Given the description of an element on the screen output the (x, y) to click on. 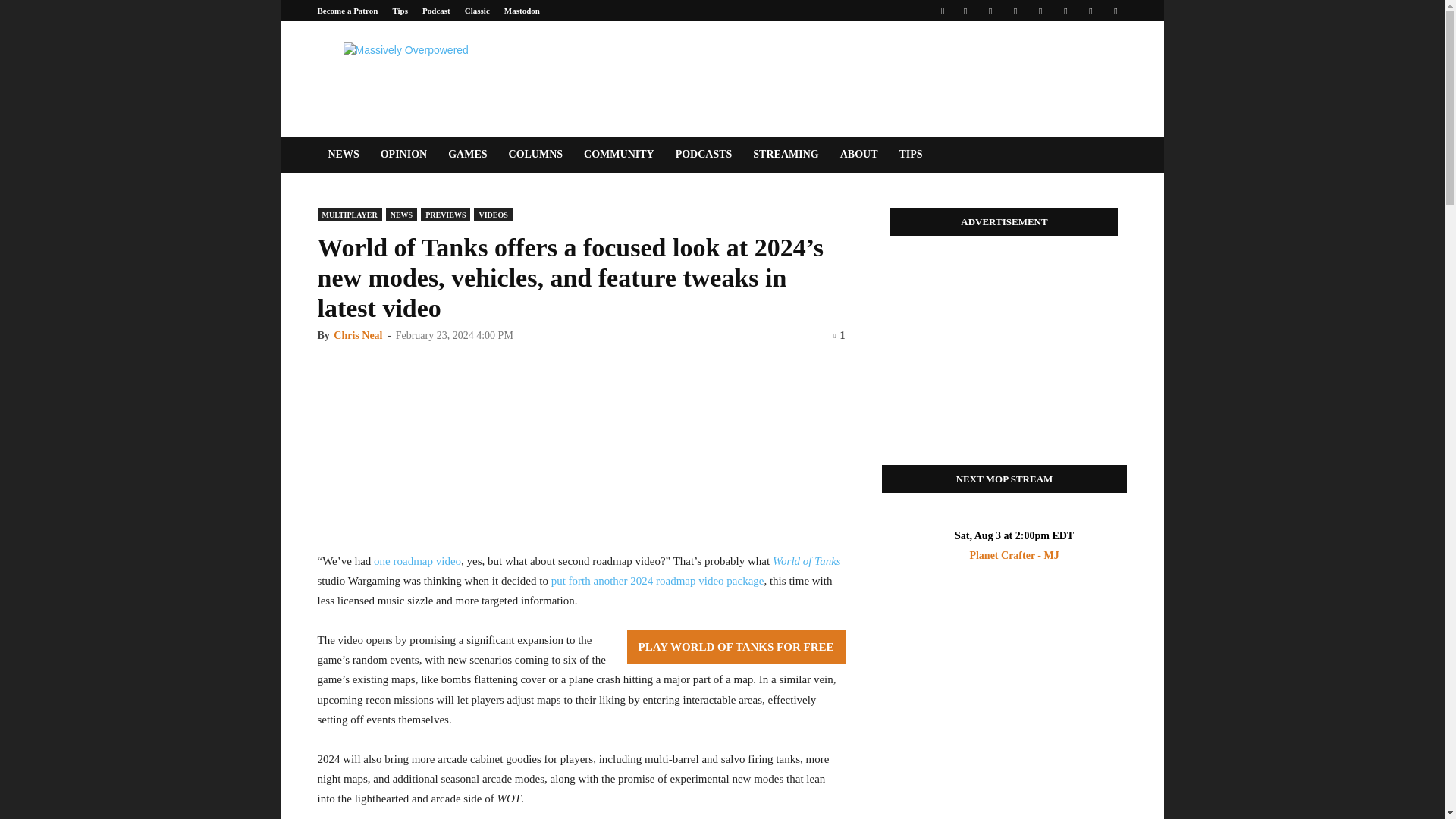
Twitter (1090, 10)
Facebook (964, 10)
RSS (1040, 10)
Patreon (989, 10)
Twitch (1065, 10)
Paypal (1015, 10)
Youtube (1114, 10)
MassivelyOP.com (445, 76)
